Given the description of an element on the screen output the (x, y) to click on. 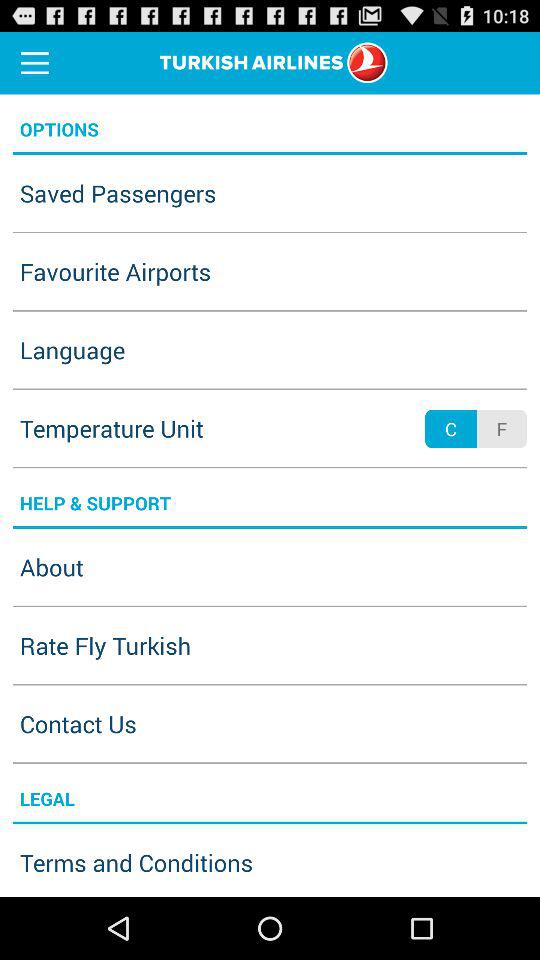
tap the app to the right of c icon (501, 428)
